Given the description of an element on the screen output the (x, y) to click on. 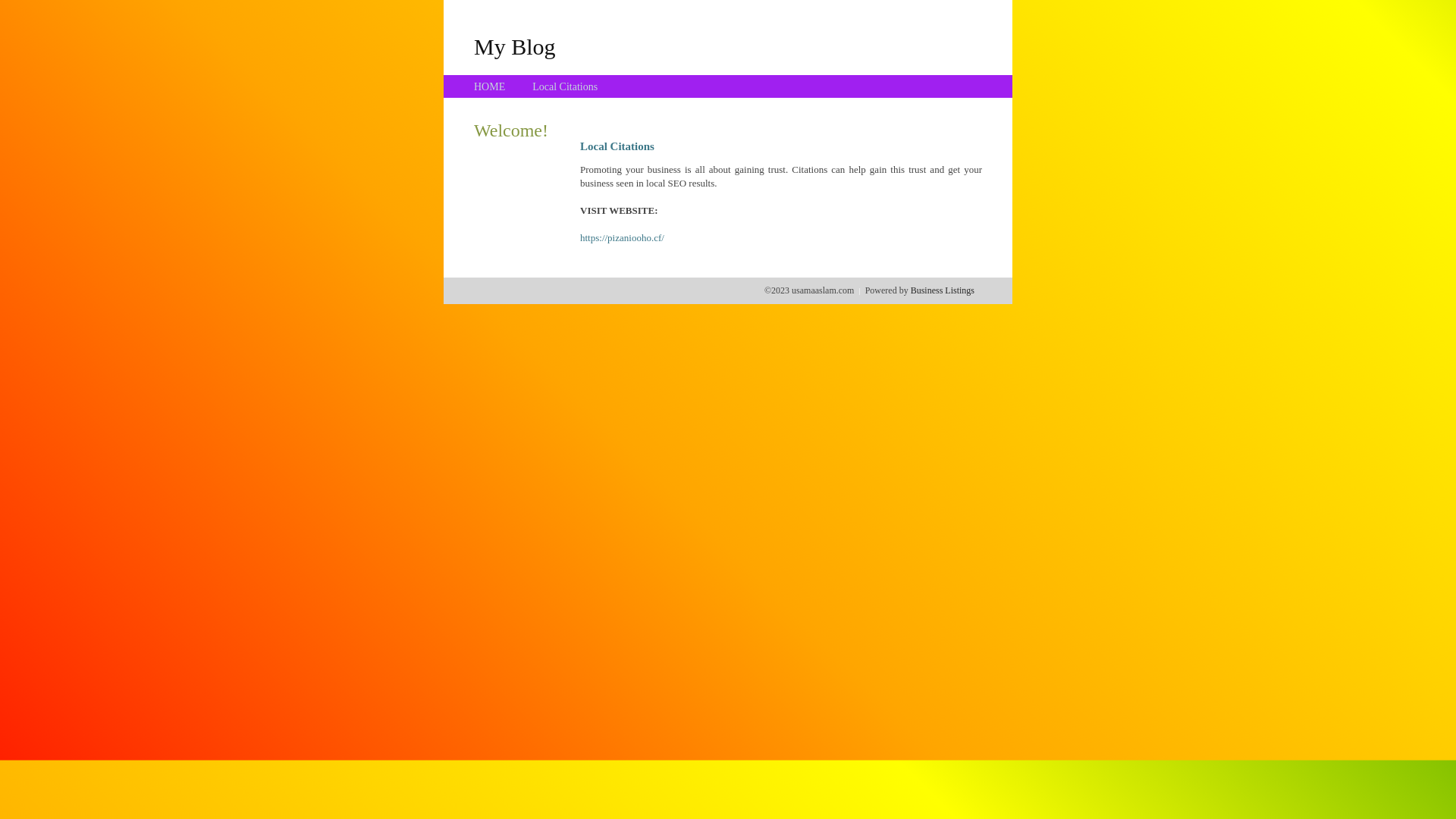
Business Listings Element type: text (942, 290)
Local Citations Element type: text (564, 86)
HOME Element type: text (489, 86)
https://pizaniooho.cf/ Element type: text (622, 237)
My Blog Element type: text (514, 46)
